Given the description of an element on the screen output the (x, y) to click on. 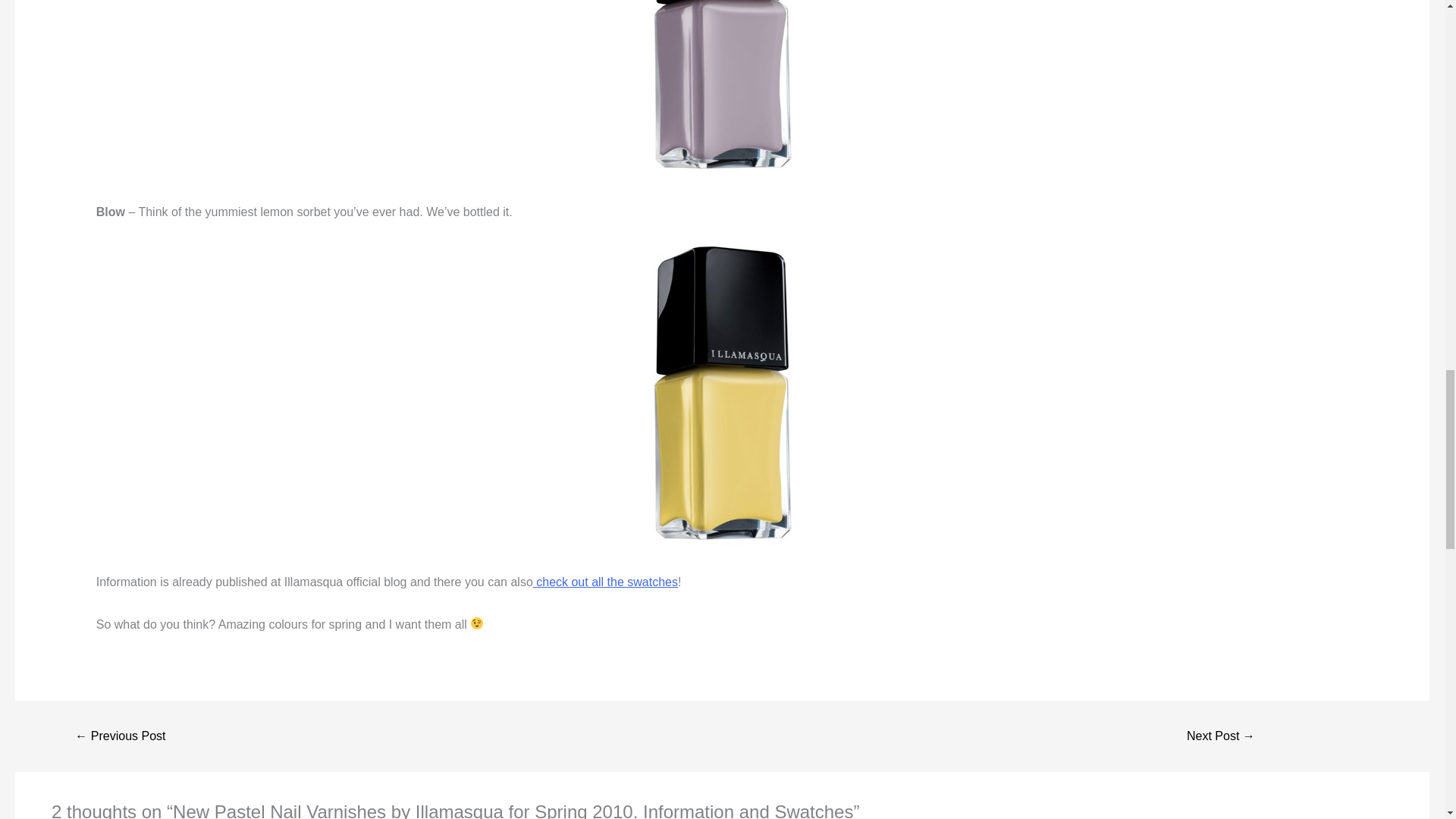
The Simpsons Do Chanel (1220, 736)
BBU Palette by Bobbi Brown, My New Dream (119, 736)
check out all the swatches (605, 581)
